Given the description of an element on the screen output the (x, y) to click on. 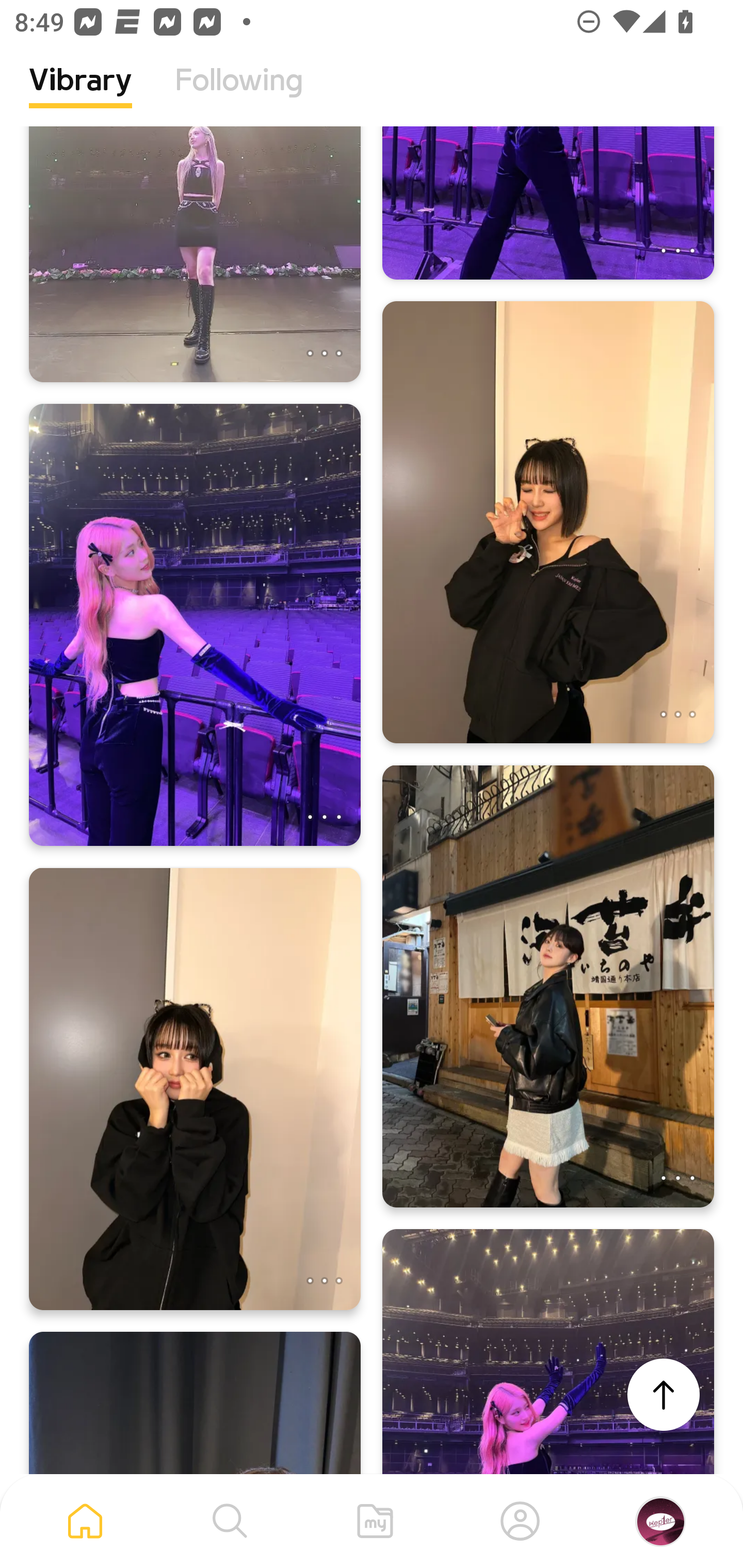
Vibrary (80, 95)
Following (239, 95)
